Given the description of an element on the screen output the (x, y) to click on. 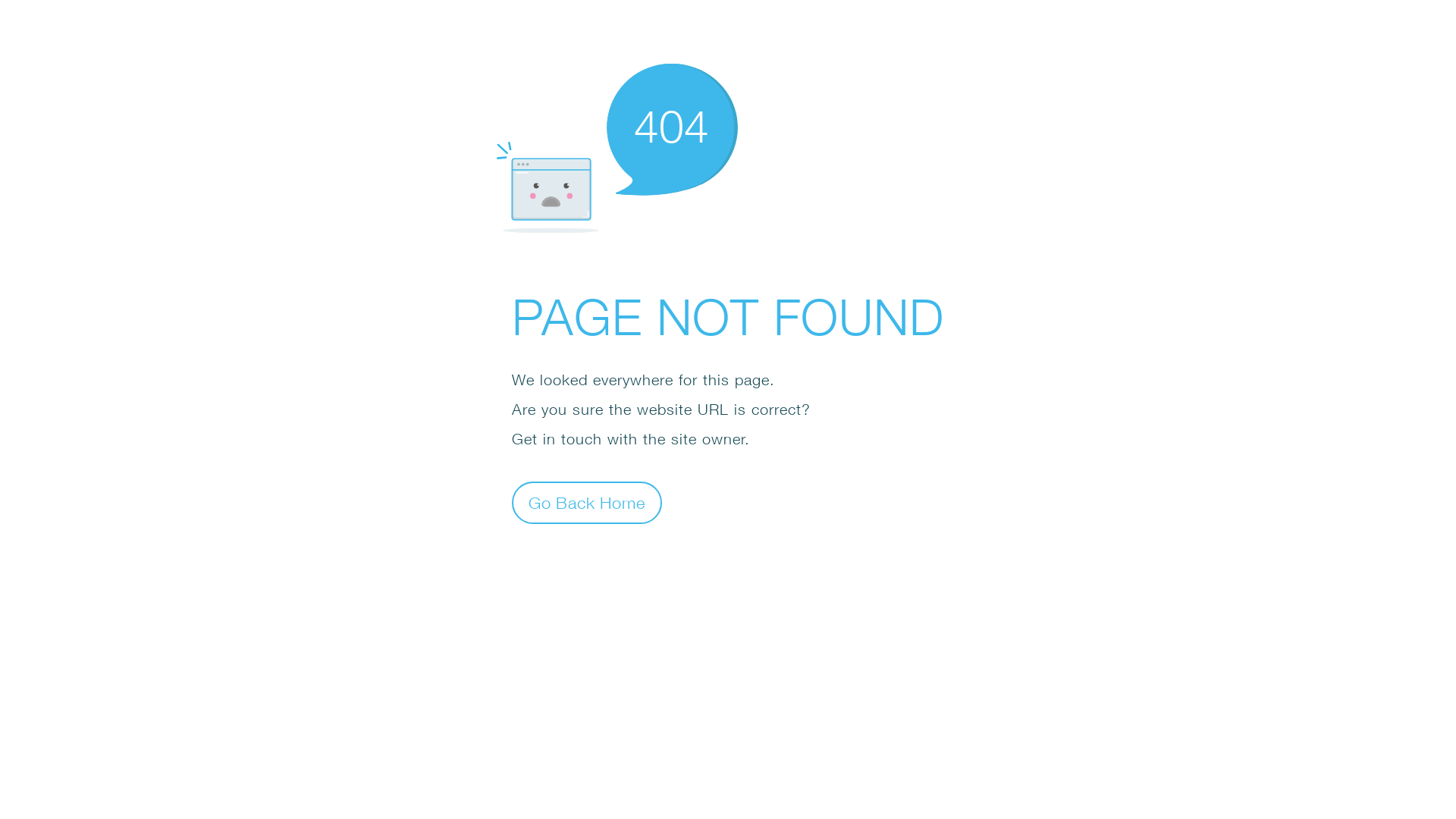
Go Back Home Element type: text (586, 502)
